Given the description of an element on the screen output the (x, y) to click on. 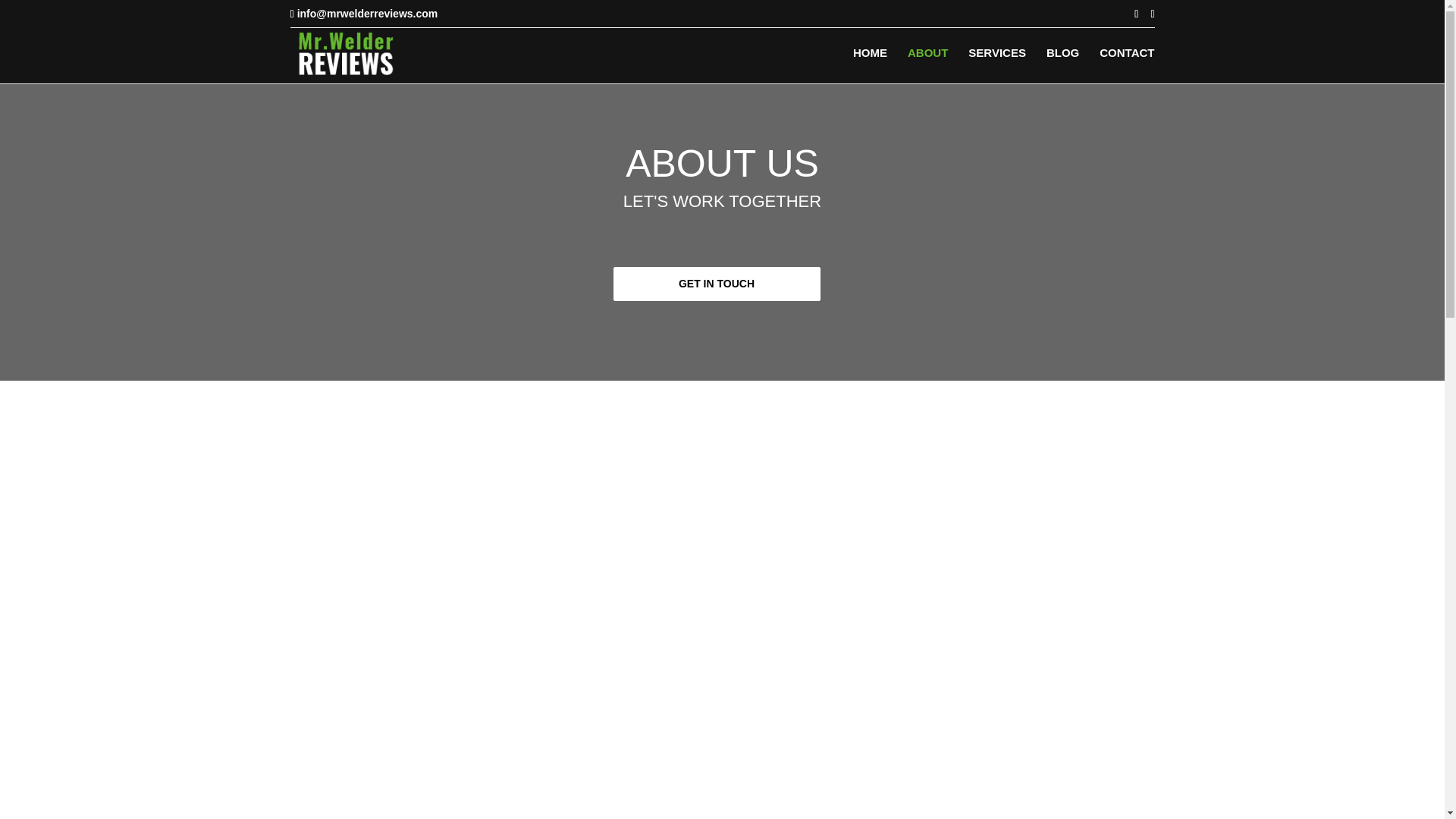
HOME (869, 65)
GET IN TOUCH (715, 284)
BLOG (1062, 65)
ABOUT (927, 65)
SERVICES (997, 65)
CONTACT (1126, 65)
